Given the description of an element on the screen output the (x, y) to click on. 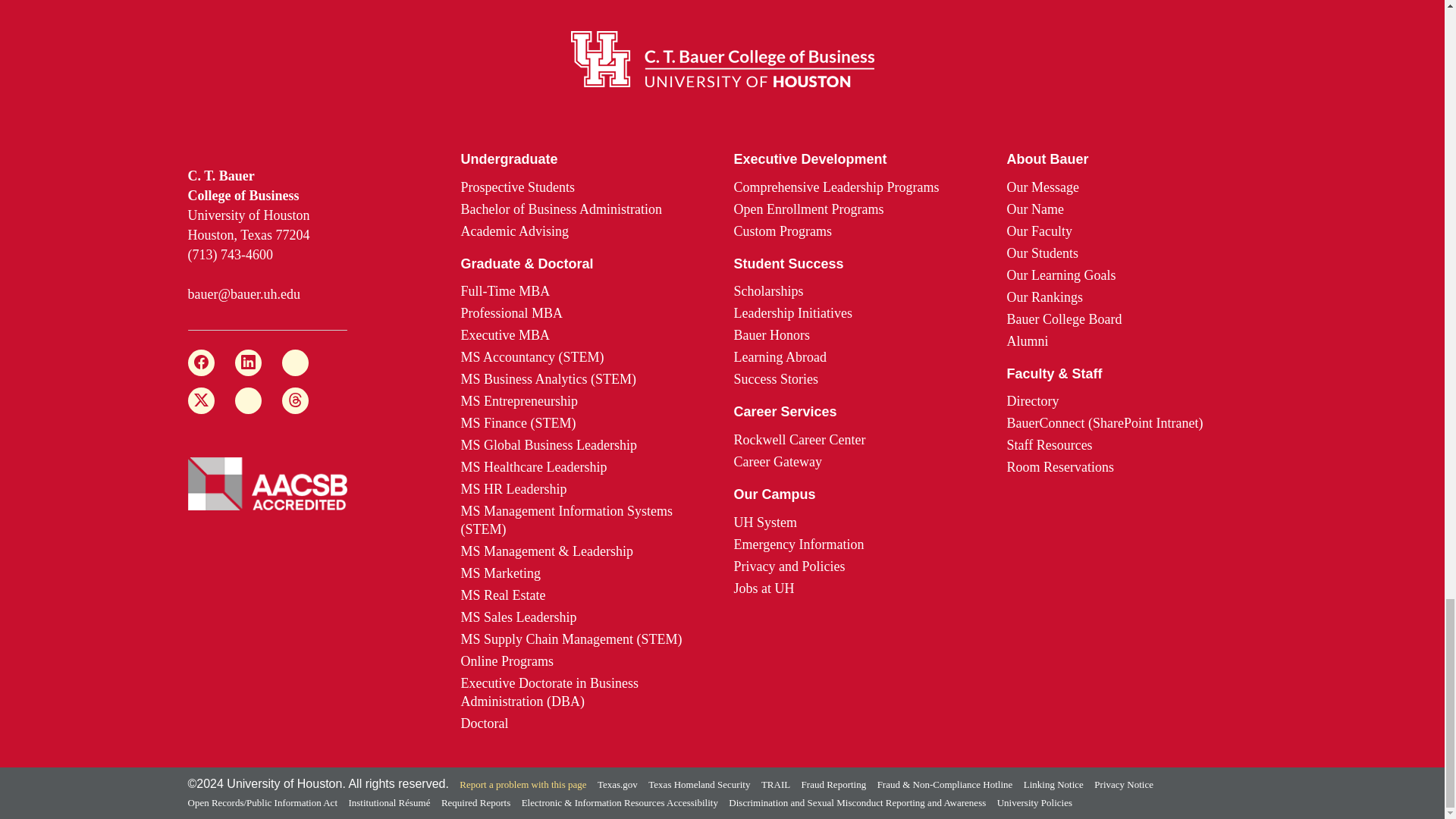
Room Reservation (1059, 467)
Click here to learn more about the college's accreditation. (267, 481)
YouTube (248, 400)
Threads (295, 400)
Facebook (200, 362)
Instagram (295, 362)
